Given the description of an element on the screen output the (x, y) to click on. 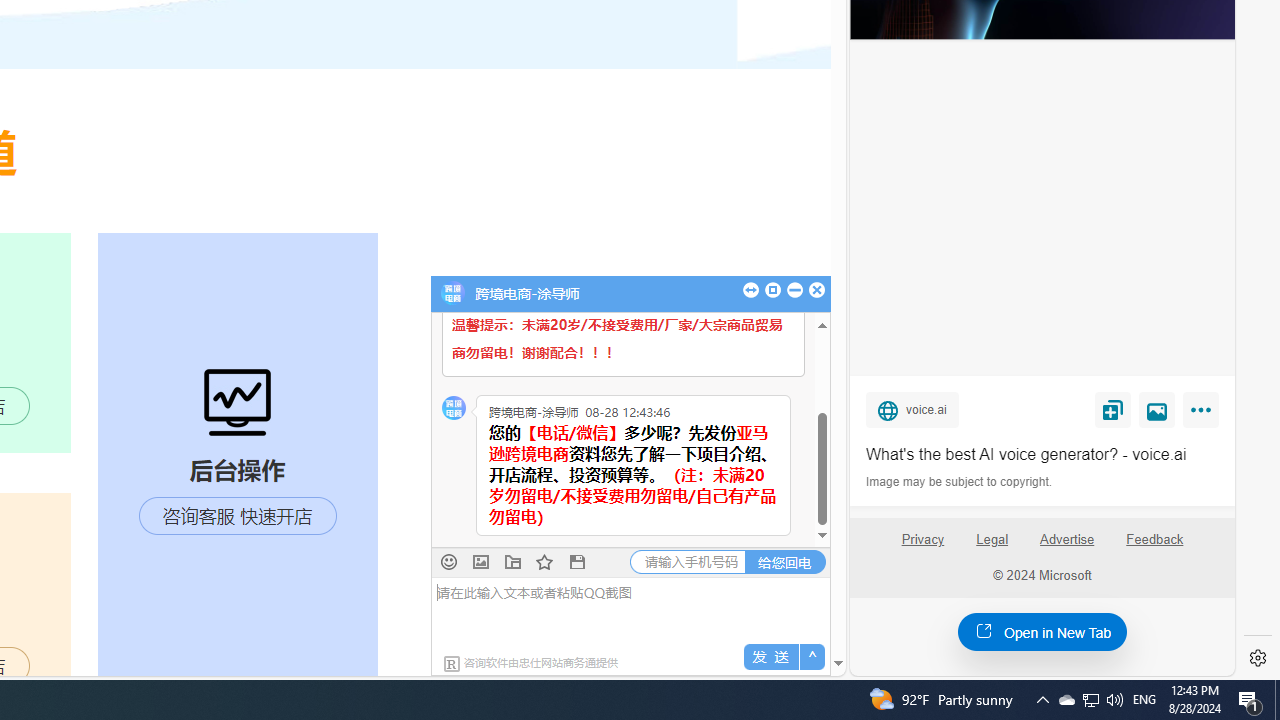
Image may be subject to copyright. (959, 481)
AutomationID: tel (687, 561)
Legal (991, 539)
Legal (992, 547)
Open in New Tab (1042, 631)
